Given the description of an element on the screen output the (x, y) to click on. 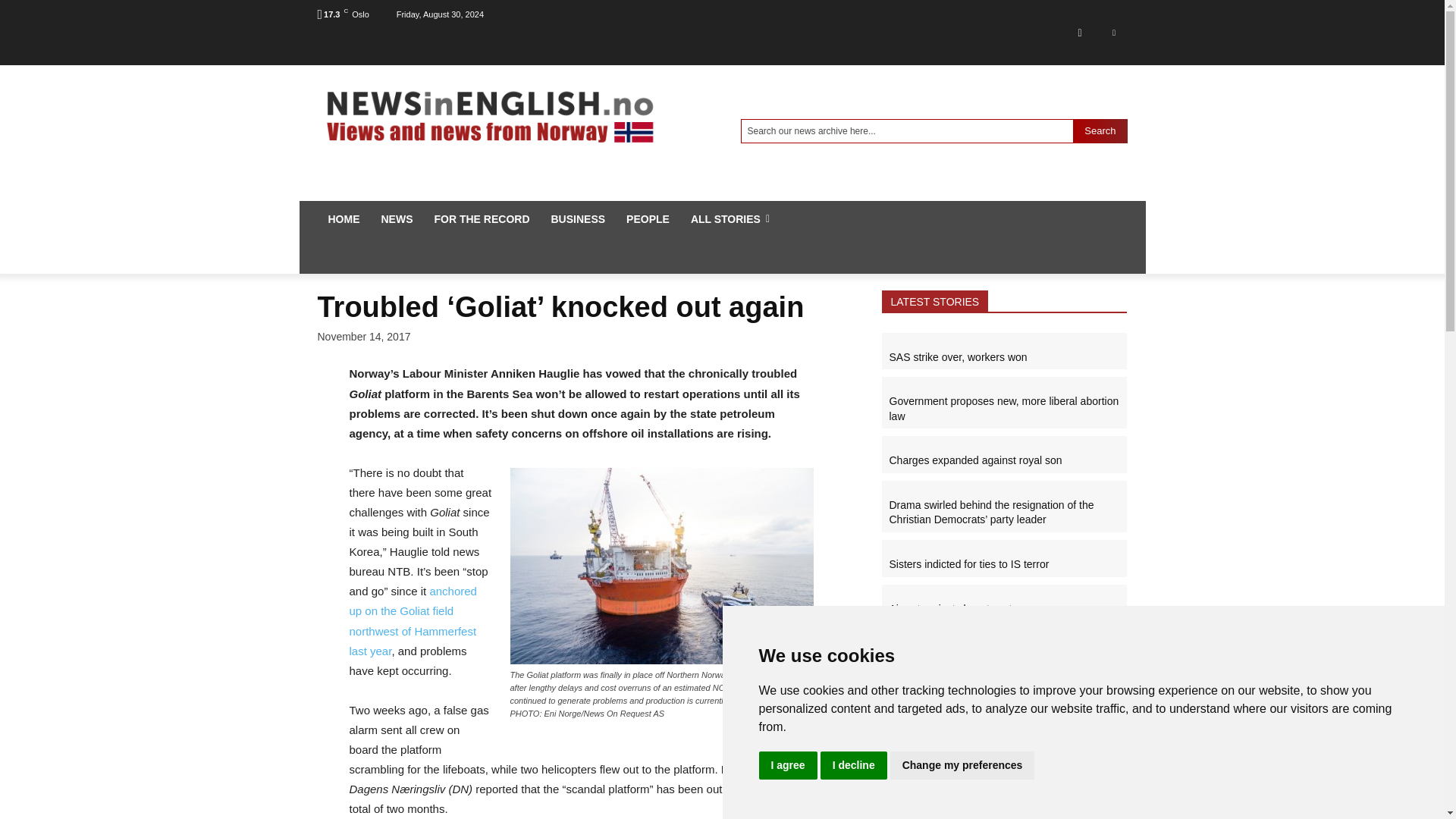
I decline (853, 765)
NEWS (396, 218)
ALL STORIES (729, 218)
I agree (787, 765)
Facebook (1079, 32)
FOR THE RECORD (481, 218)
HOME (343, 218)
Search (1099, 130)
Charges expanded against royal son (974, 460)
Twitter (1113, 32)
